Given the description of an element on the screen output the (x, y) to click on. 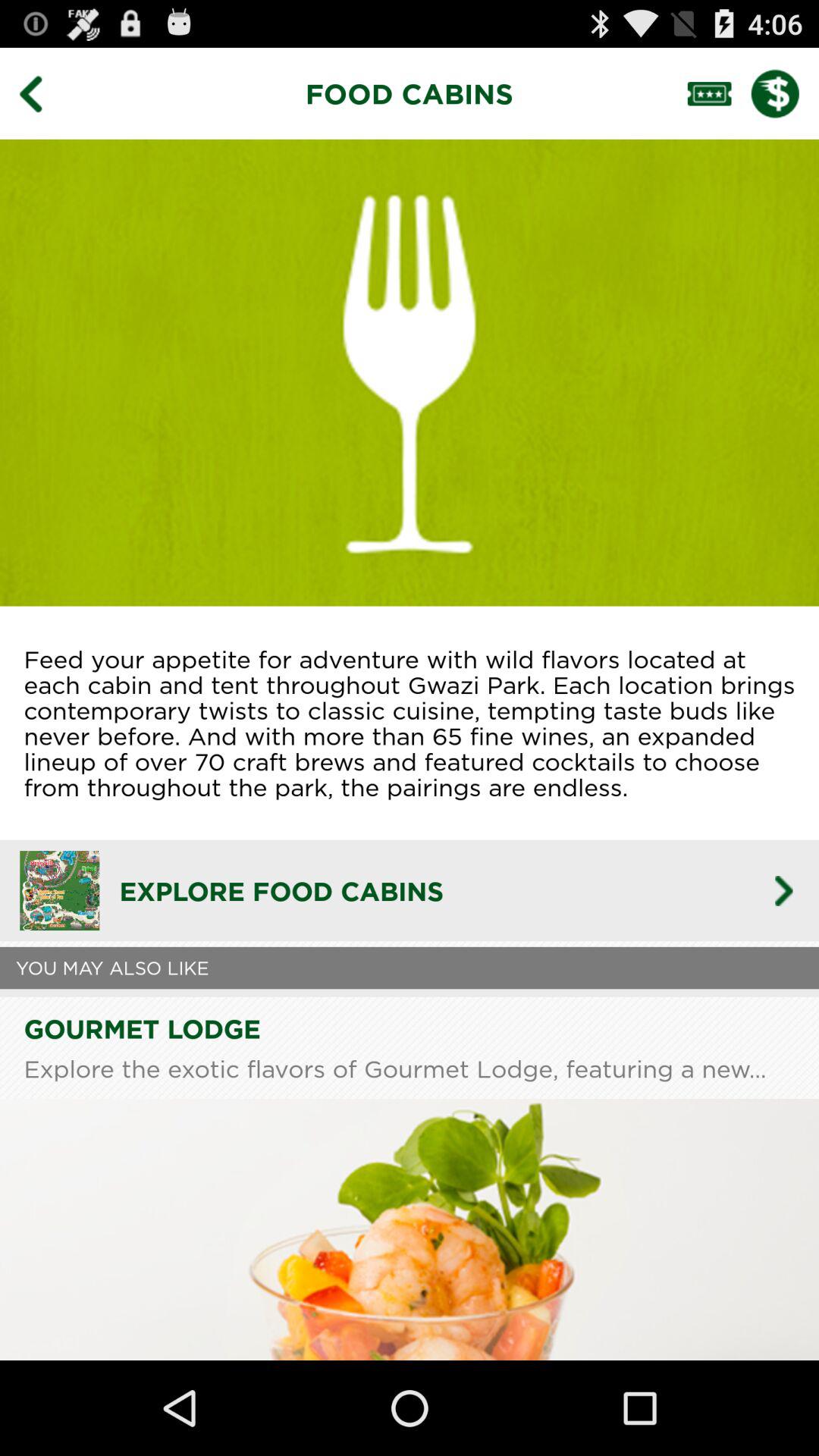
press the app to the left of food cabins app (41, 93)
